Given the description of an element on the screen output the (x, y) to click on. 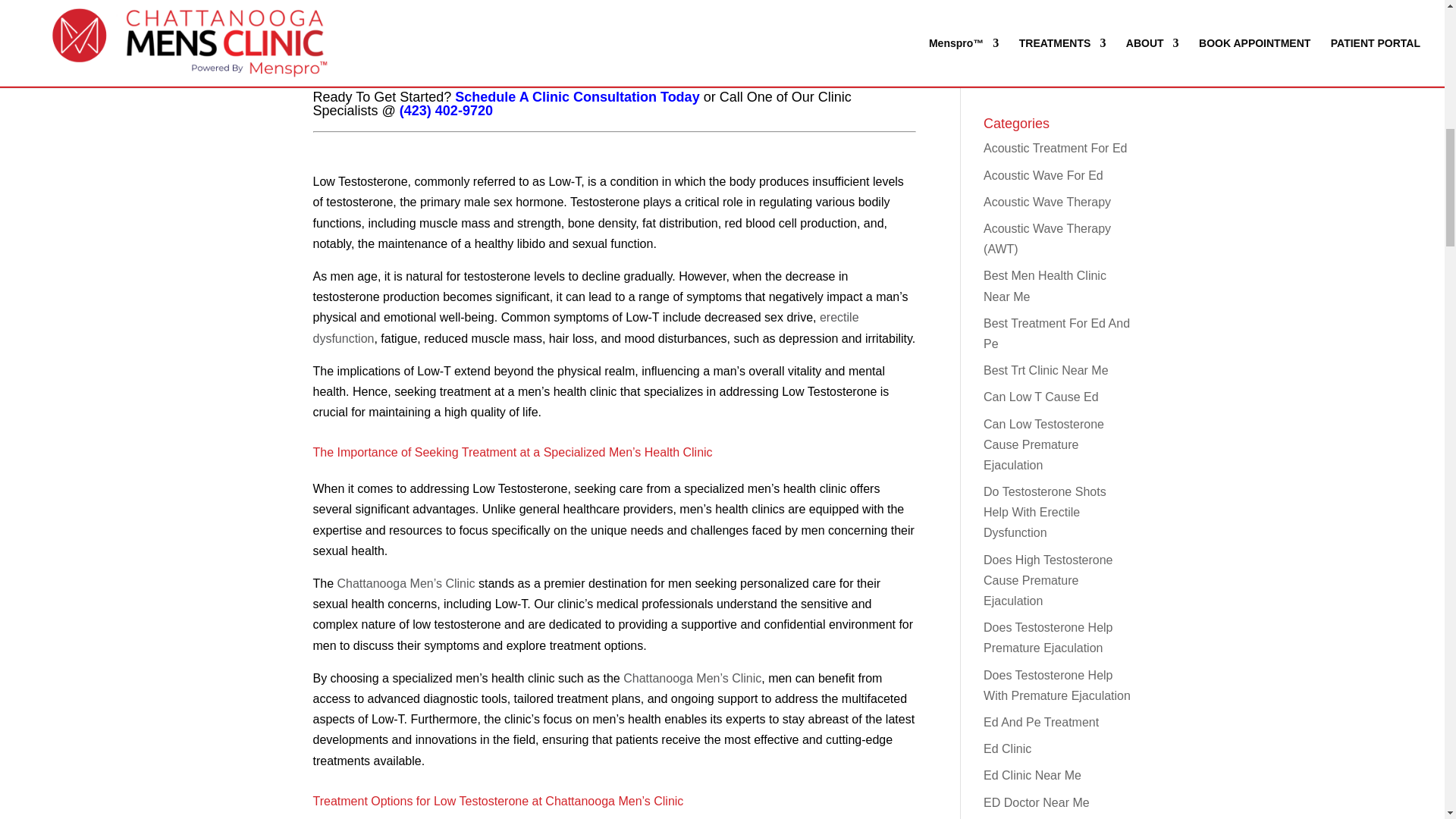
erectile dysfunction (586, 327)
Home Page (692, 677)
Home Page (406, 583)
Schedule A Clinic Consultation Today (576, 96)
